Given the description of an element on the screen output the (x, y) to click on. 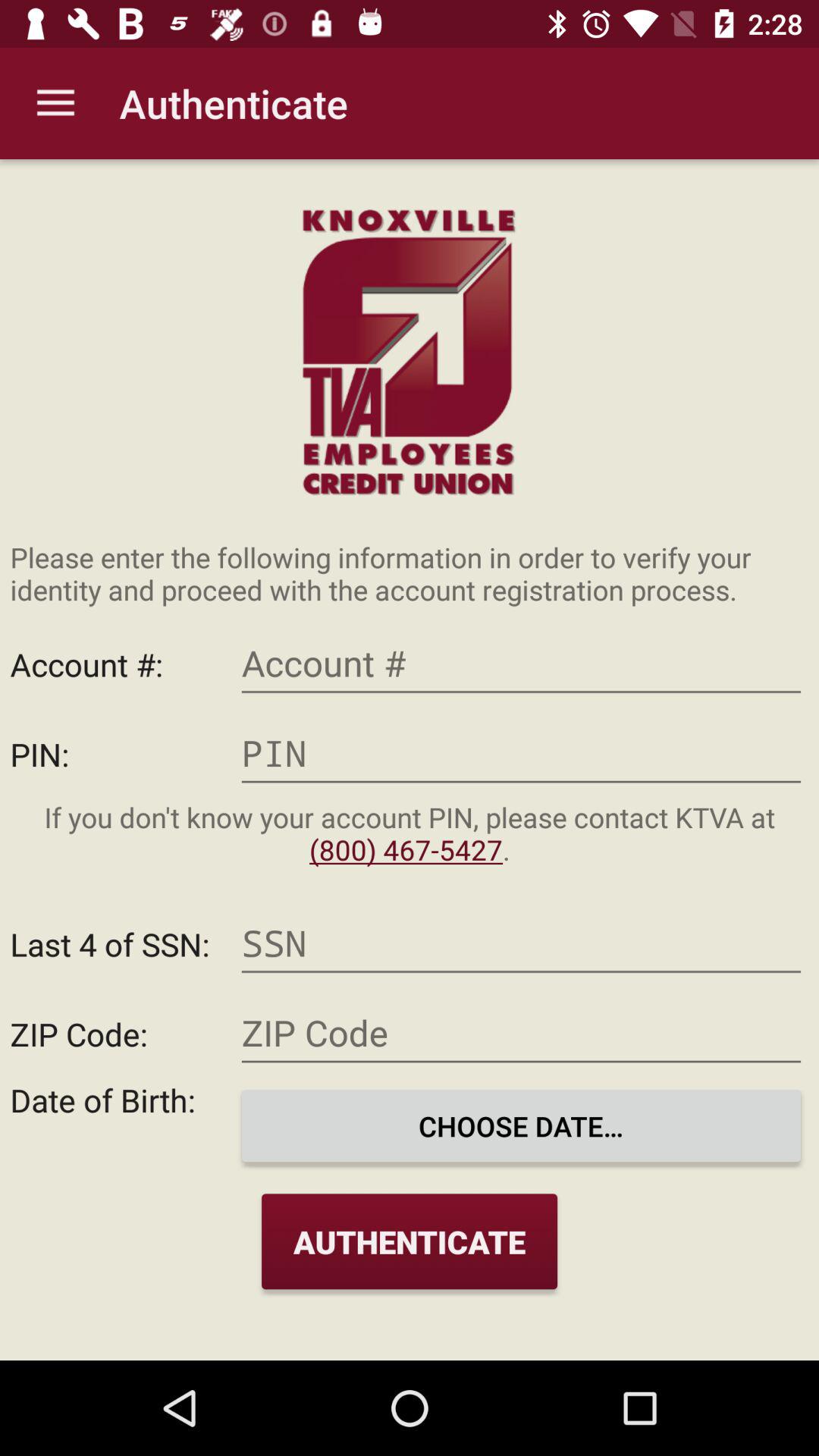
open icon to the right of date of birth: (520, 1125)
